Given the description of an element on the screen output the (x, y) to click on. 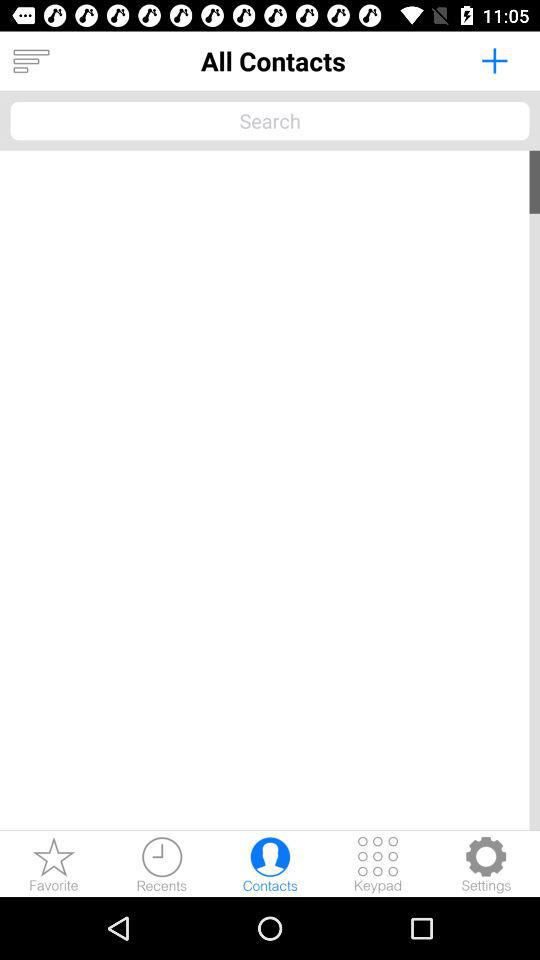
expand menu (31, 61)
